Given the description of an element on the screen output the (x, y) to click on. 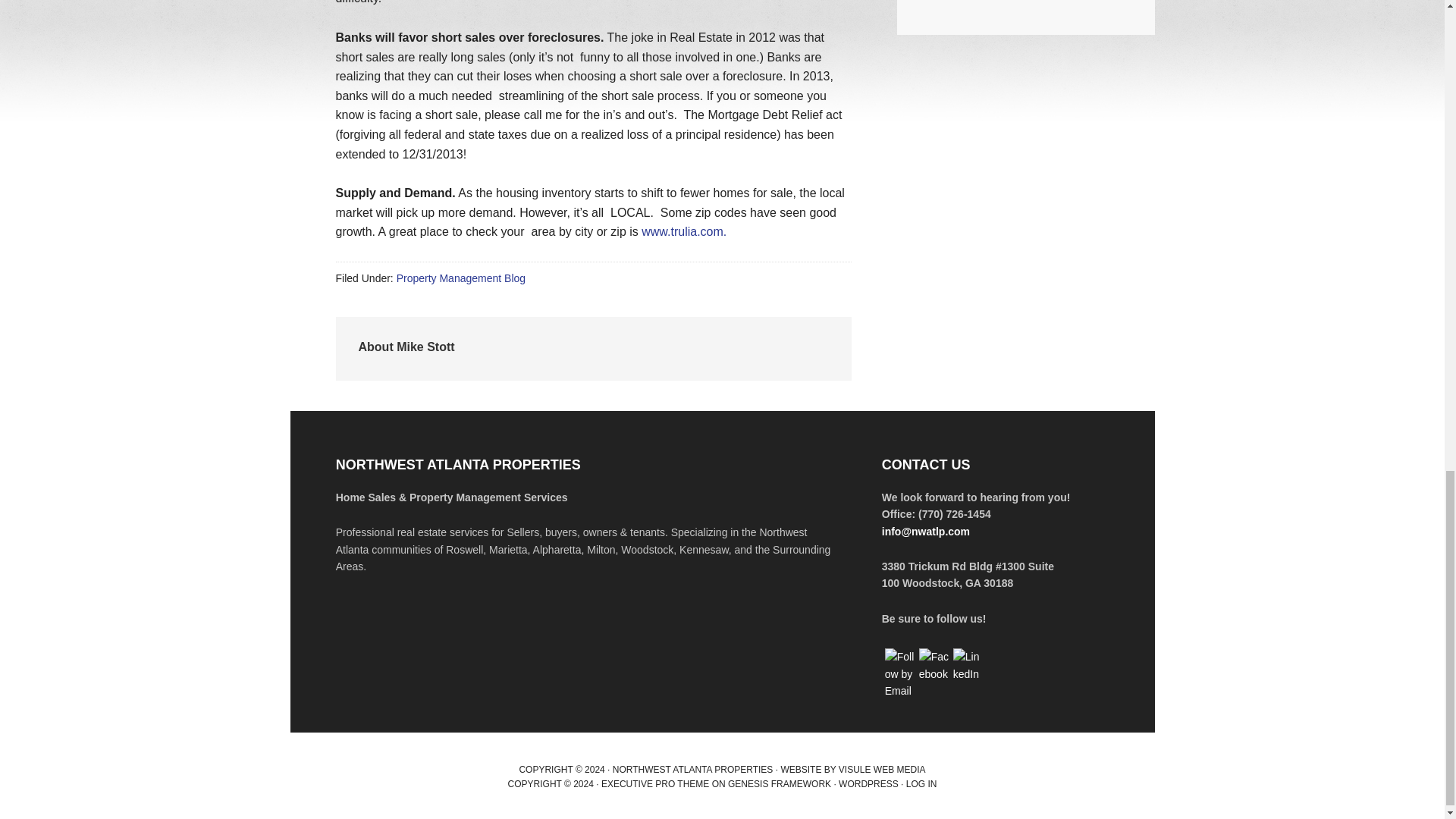
Facebook (933, 665)
www.trulia.com. (684, 231)
Property Management Blog (460, 277)
Visule Web Media (882, 769)
LinkedIn (968, 665)
